Given the description of an element on the screen output the (x, y) to click on. 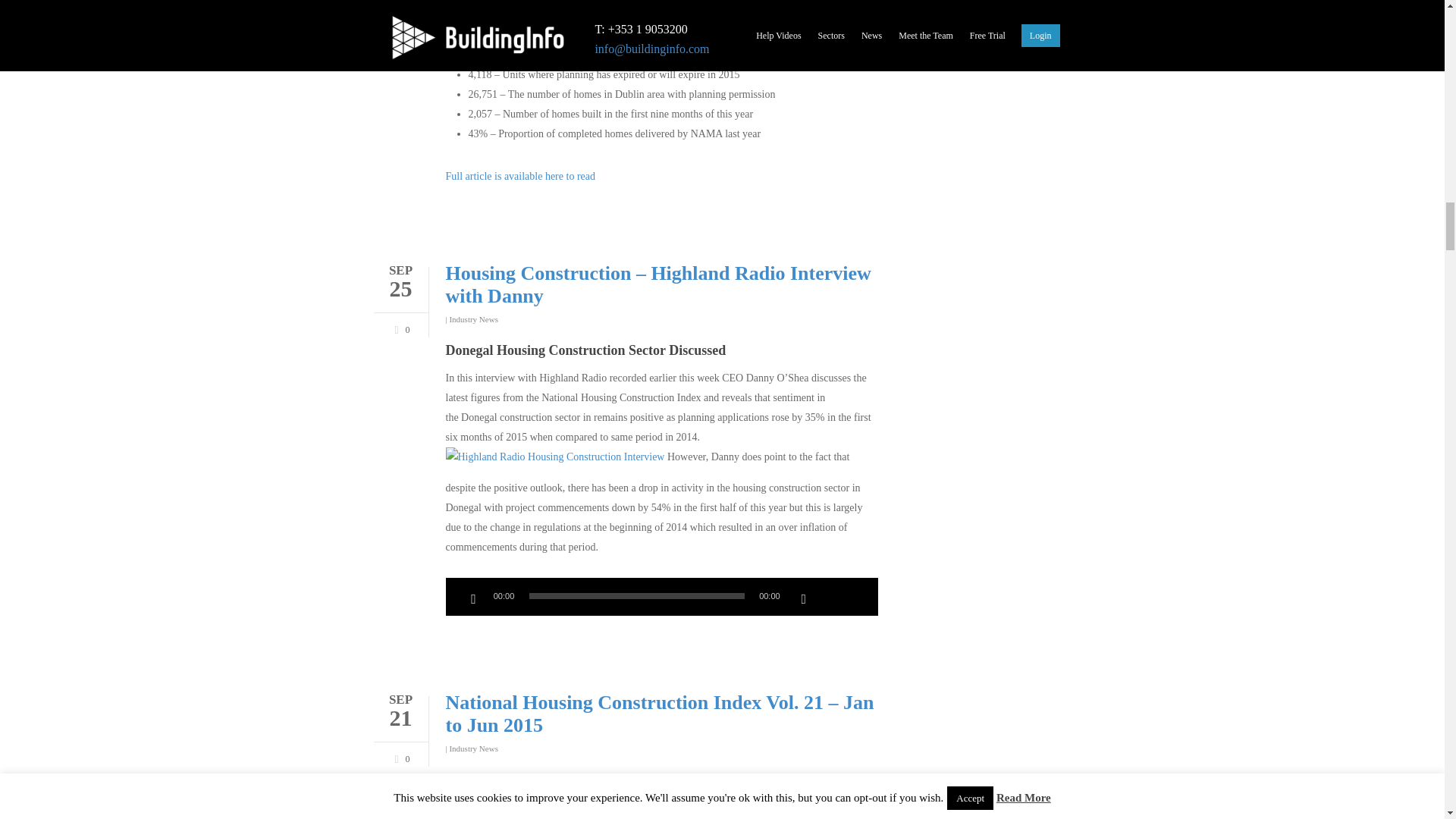
Industry News (472, 747)
Love this (399, 327)
Mute (804, 598)
Play (473, 598)
0 (399, 327)
0 (399, 757)
Full article is available here to read (520, 175)
Love this (399, 757)
Industry News (472, 318)
